Given the description of an element on the screen output the (x, y) to click on. 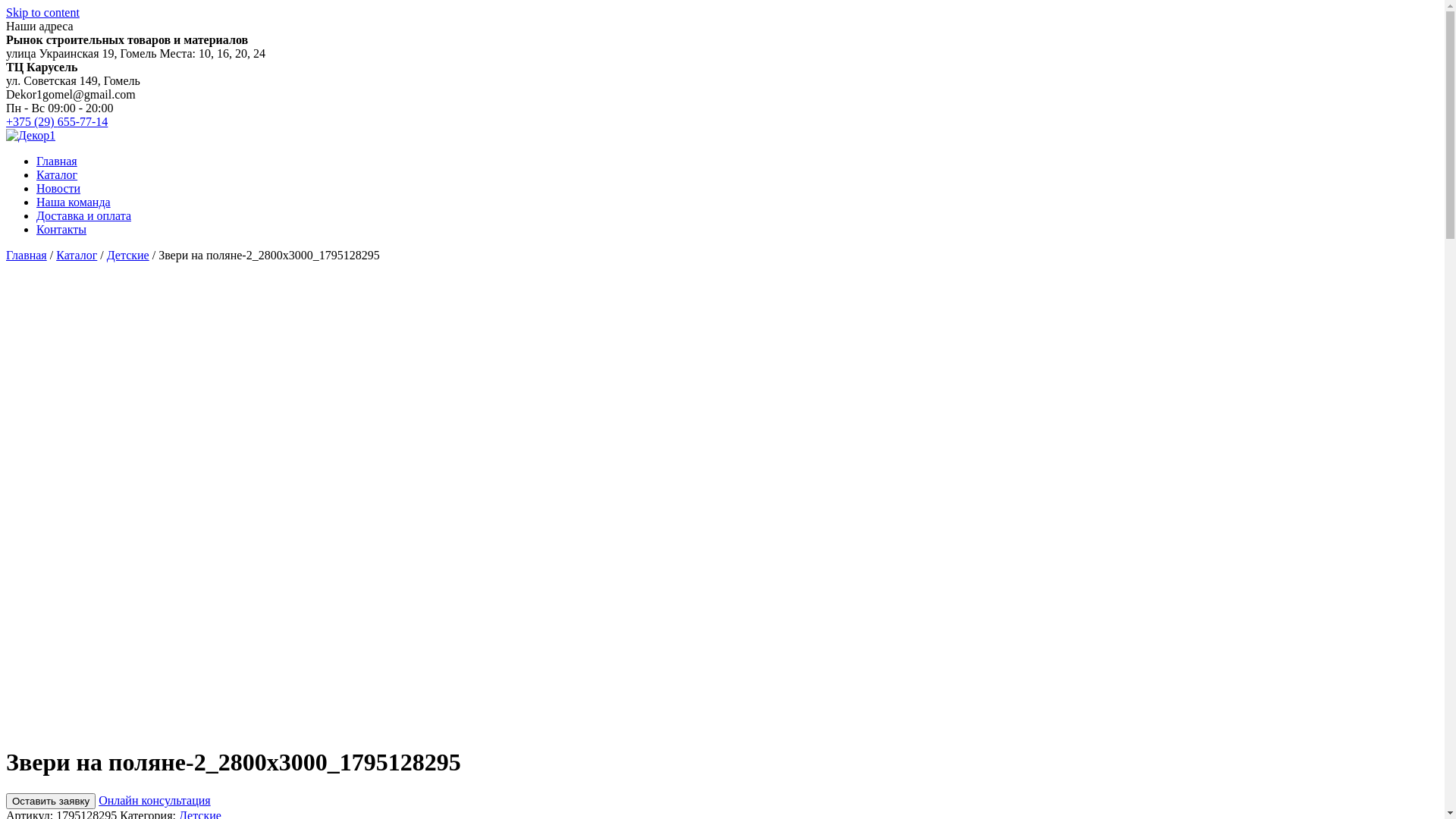
Skip to content Element type: text (42, 12)
+375 (29) 655-77-14 Element type: text (56, 121)
